Given the description of an element on the screen output the (x, y) to click on. 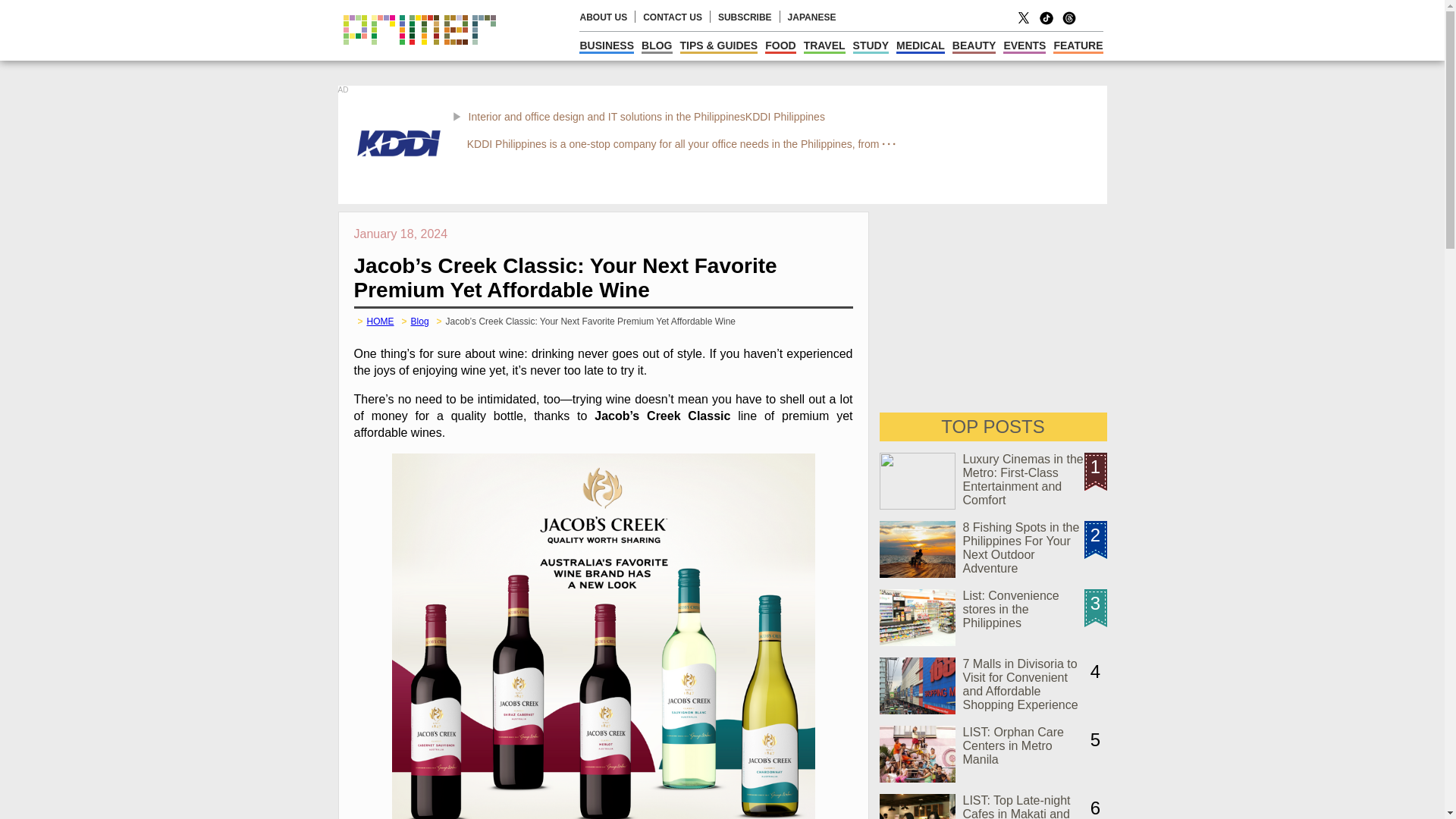
CONTACT US (672, 17)
BEAUTY (973, 45)
Philippine Medical (920, 45)
Philippine Related Blog (656, 45)
Twitter Account (1023, 22)
Philippine Primer Top Page (418, 56)
Blog (419, 321)
Philippine Business (606, 45)
Contact Us (672, 17)
SUBSCRIBE (744, 17)
THreads (1069, 22)
EVENTS (1024, 45)
FOOD (779, 45)
FEATURE (1077, 45)
